Given the description of an element on the screen output the (x, y) to click on. 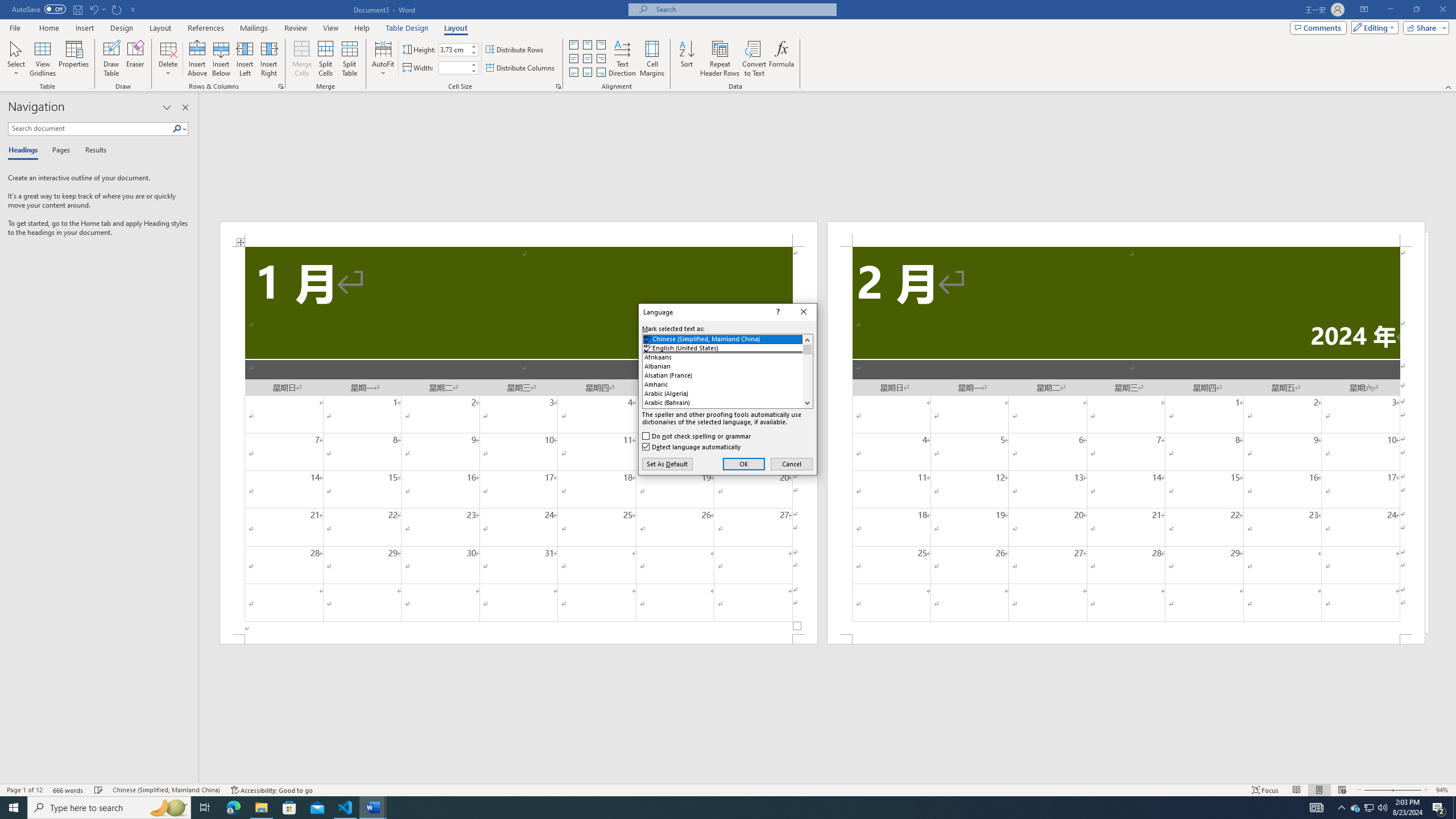
Action Center, 2 new notifications (1439, 807)
Task Pane Options (167, 107)
Insert (83, 28)
Align Top Center (587, 44)
Spelling and Grammar Check Checking (98, 790)
Share (1423, 27)
File Explorer - 1 running window (261, 807)
Customize Quick Access Toolbar (133, 9)
Focus  (1265, 790)
Insert Below (220, 58)
Class: NetUIScrollBar (827, 778)
Do not check spelling or grammar (697, 435)
